Given the description of an element on the screen output the (x, y) to click on. 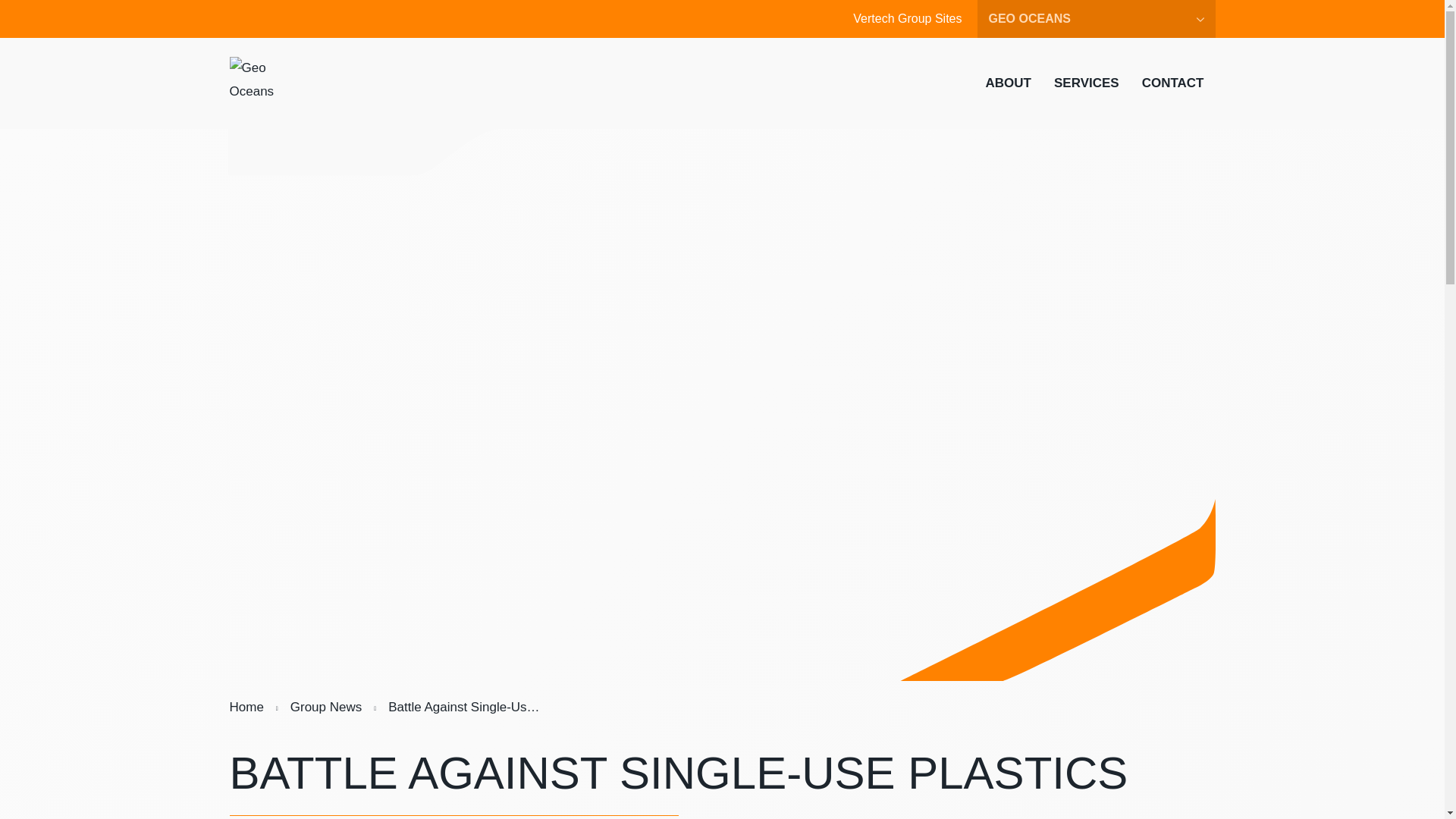
SERVICES (1086, 82)
Home (245, 707)
CONTACT (1173, 82)
ABOUT (1008, 82)
Group News (325, 707)
Geo Oceans (256, 82)
